Given the description of an element on the screen output the (x, y) to click on. 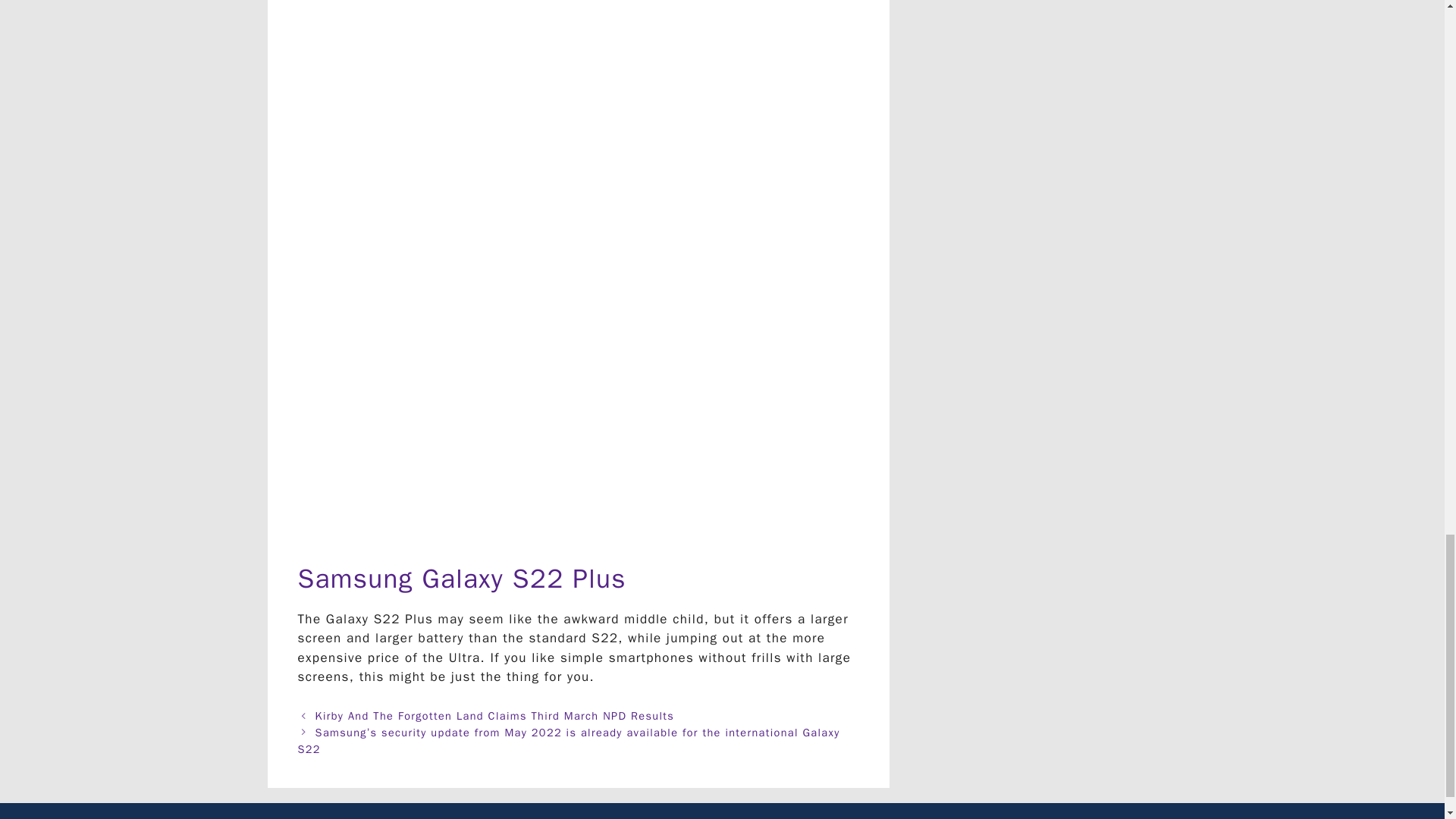
Kirby And The Forgotten Land Claims Third March NPD Results (495, 715)
